Given the description of an element on the screen output the (x, y) to click on. 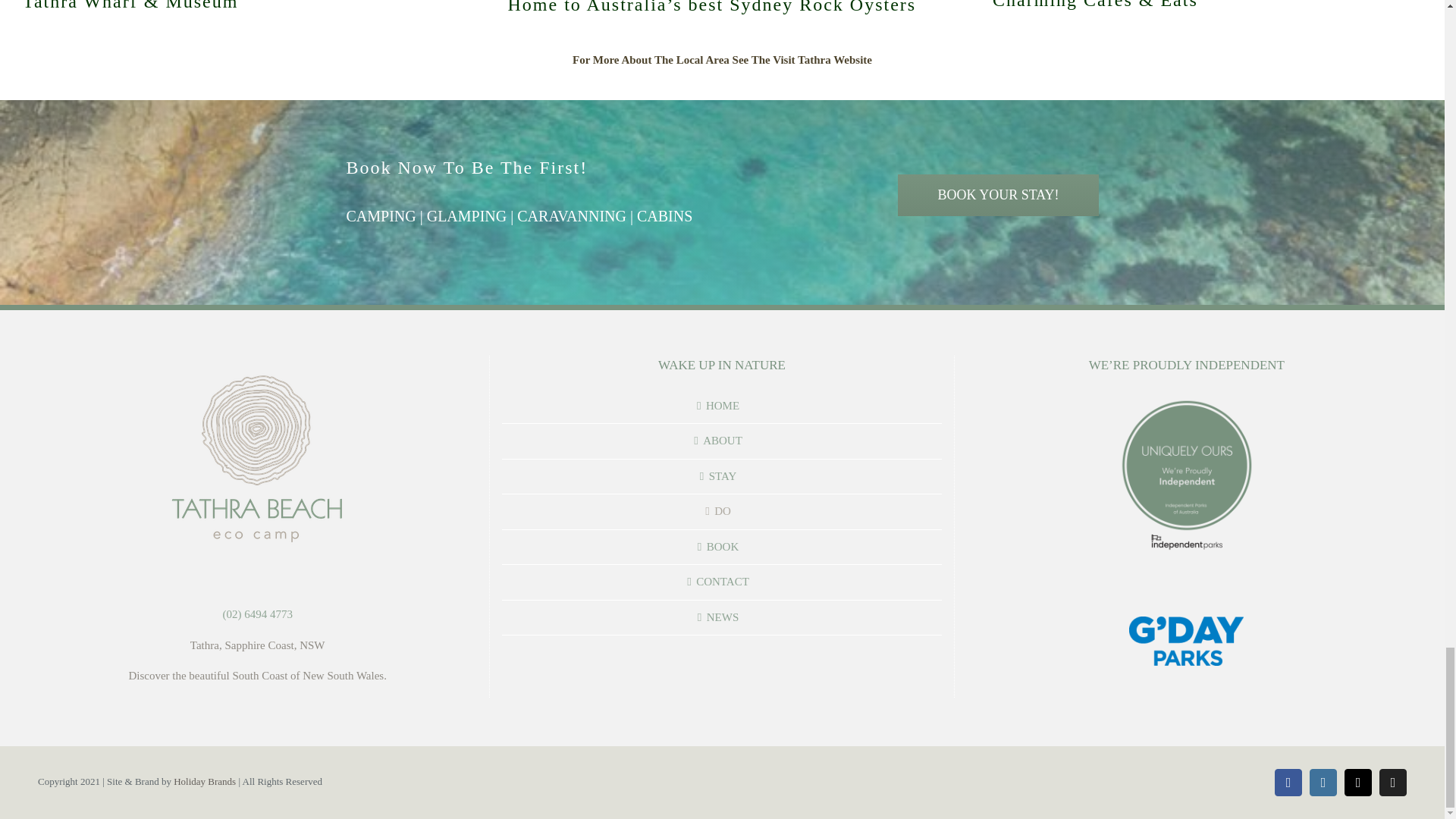
ABOUT (722, 441)
BOOK YOUR STAY! (997, 195)
HOME (722, 406)
For More About The Local Area See The Visit Tathra Website (722, 60)
